Given the description of an element on the screen output the (x, y) to click on. 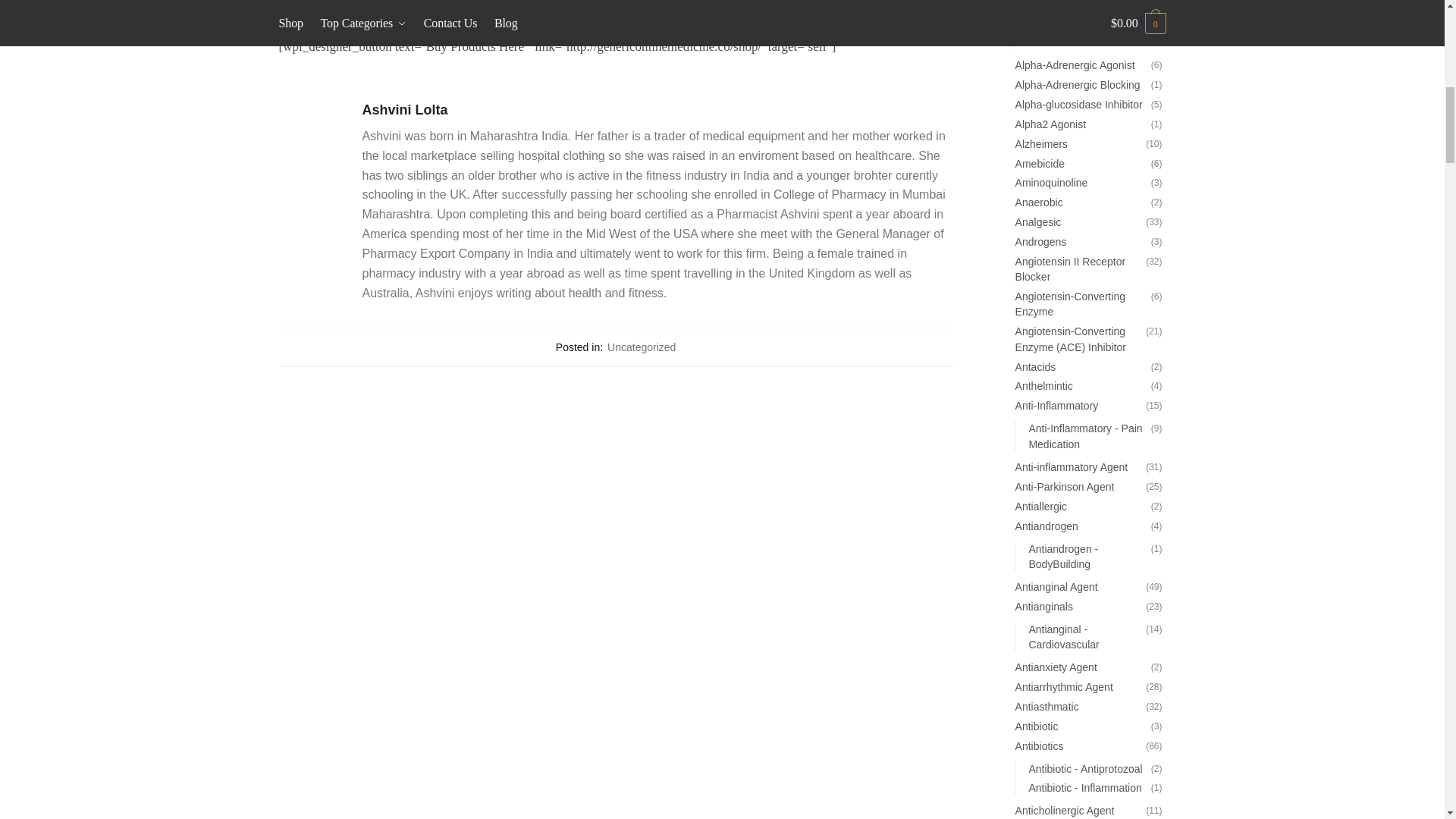
Ashvini Lolta (657, 110)
Uncategorized (641, 346)
